Given the description of an element on the screen output the (x, y) to click on. 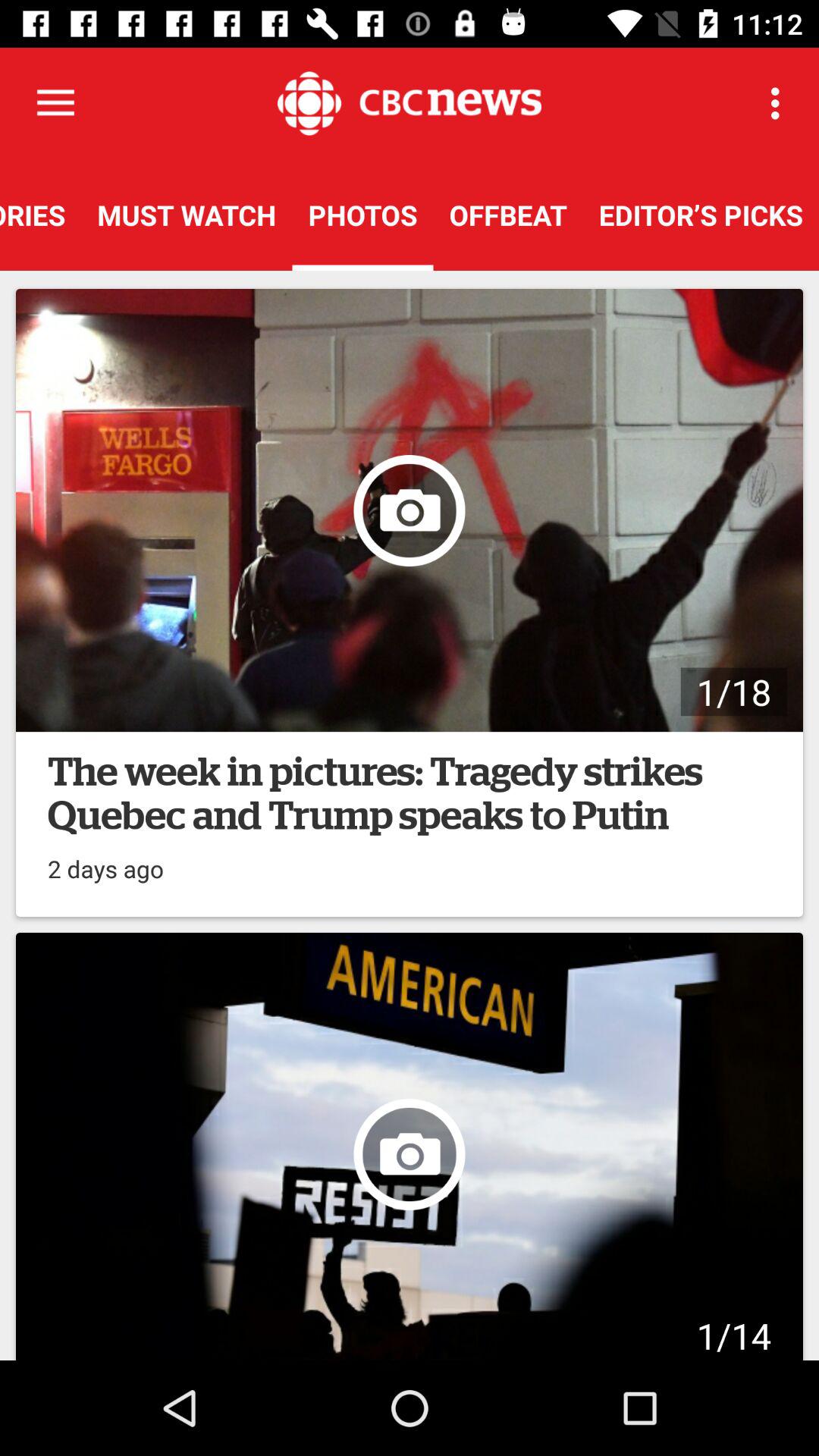
scroll to photos icon (362, 214)
